Given the description of an element on the screen output the (x, y) to click on. 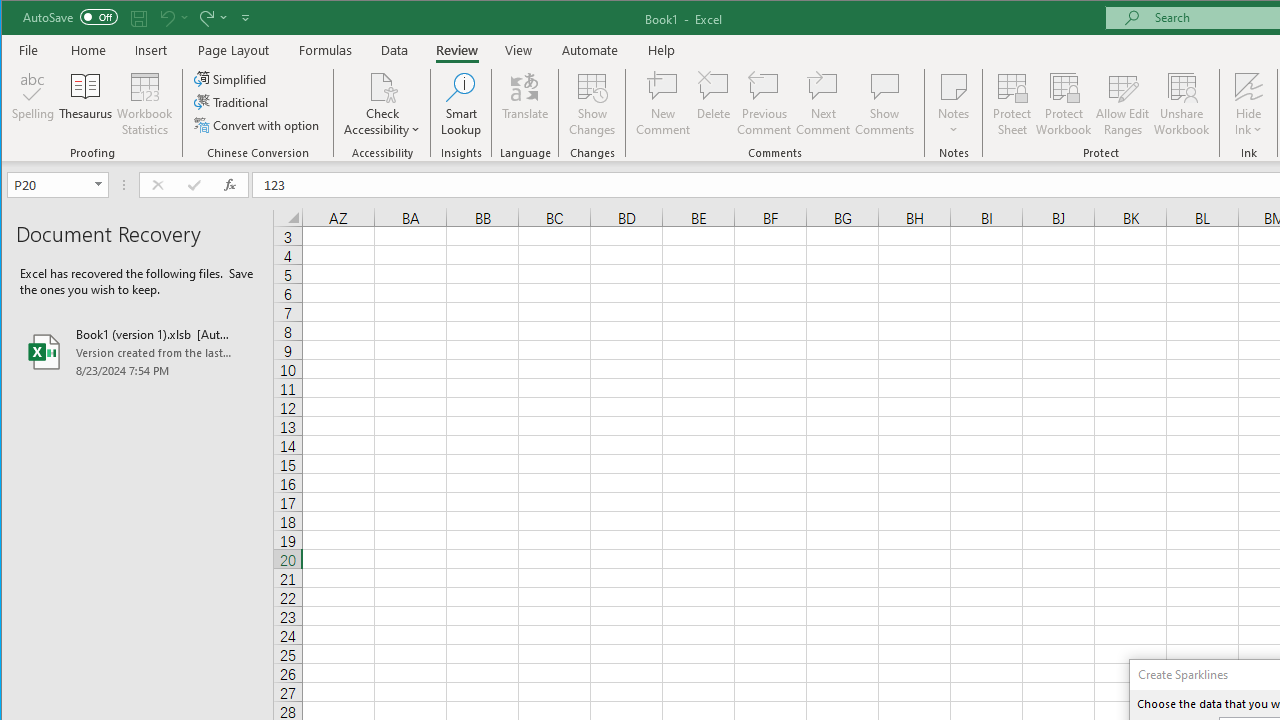
Formulas (326, 50)
Open (99, 184)
View (518, 50)
Customize Quick Access Toolbar (245, 17)
